Given the description of an element on the screen output the (x, y) to click on. 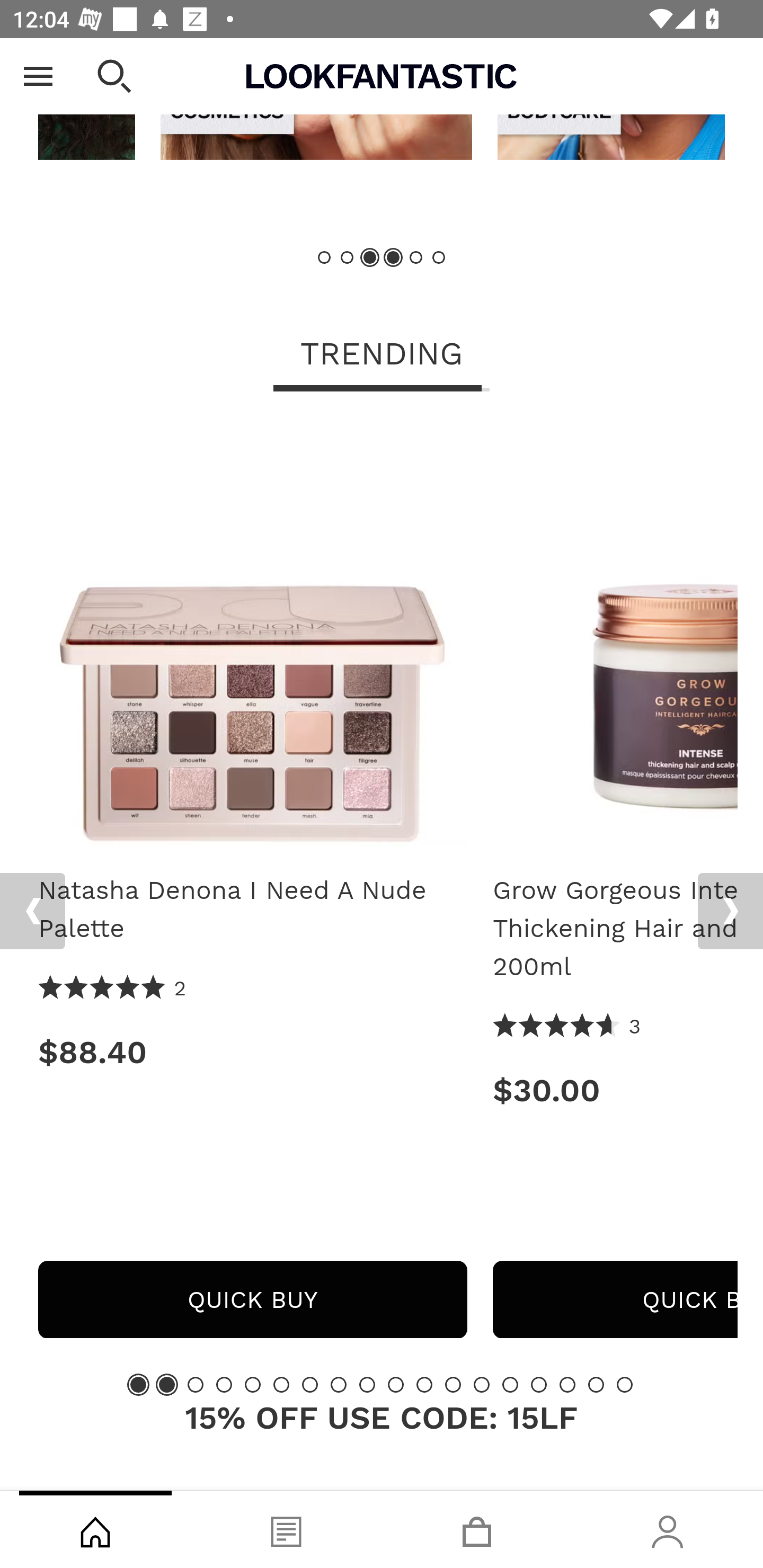
Slide 1 (324, 257)
Slide 2 (347, 257)
Showing Slide 3 (Current Item) (369, 257)
Showing Slide 4 (Current Item) (393, 257)
Slide 5 (415, 257)
Slide 6 (437, 257)
TRENDING (381, 355)
Natasha Denona I Need A Nude Palette (252, 638)
Natasha Denona I Need A Nude Palette (252, 909)
Previous (32, 910)
Next (730, 910)
5.0 Stars 2 Reviews (112, 989)
4.67 Stars 3 Reviews (567, 1027)
Price: $88.40 (252, 1052)
Price: $30.00 (614, 1090)
QUICK BUY NATASHA DENONA I NEED A NUDE PALETTE (252, 1299)
Showing Slide 1 (Current Item) (138, 1384)
Showing Slide 2 (Current Item) (166, 1384)
Slide 3 (195, 1384)
Slide 4 (223, 1384)
Slide 5 (252, 1384)
Slide 6 (281, 1384)
Slide 7 (310, 1384)
Slide 8 (338, 1384)
Slide 9 (367, 1384)
Slide 10 (395, 1384)
Slide 11 (424, 1384)
Slide 12 (452, 1384)
Slide 13 (481, 1384)
Slide 14 (510, 1384)
Slide 15 (539, 1384)
Slide 16 (567, 1384)
Slide 17 (596, 1384)
Slide 18 (624, 1384)
Shop, tab, 1 of 4 (95, 1529)
Blog, tab, 2 of 4 (285, 1529)
Basket, tab, 3 of 4 (476, 1529)
Account, tab, 4 of 4 (667, 1529)
